Given the description of an element on the screen output the (x, y) to click on. 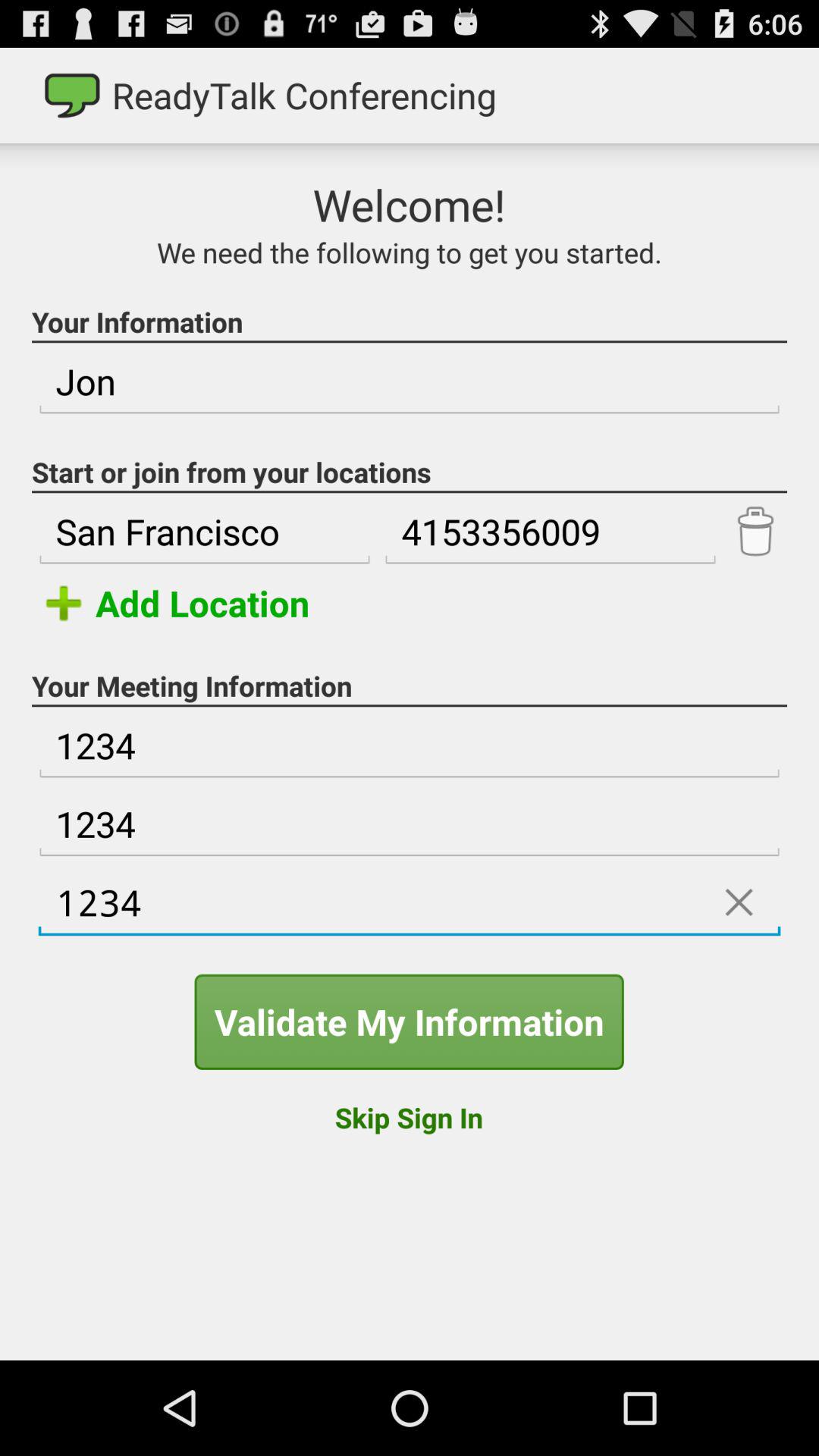
tap the item to the right of san francisco icon (550, 532)
